Given the description of an element on the screen output the (x, y) to click on. 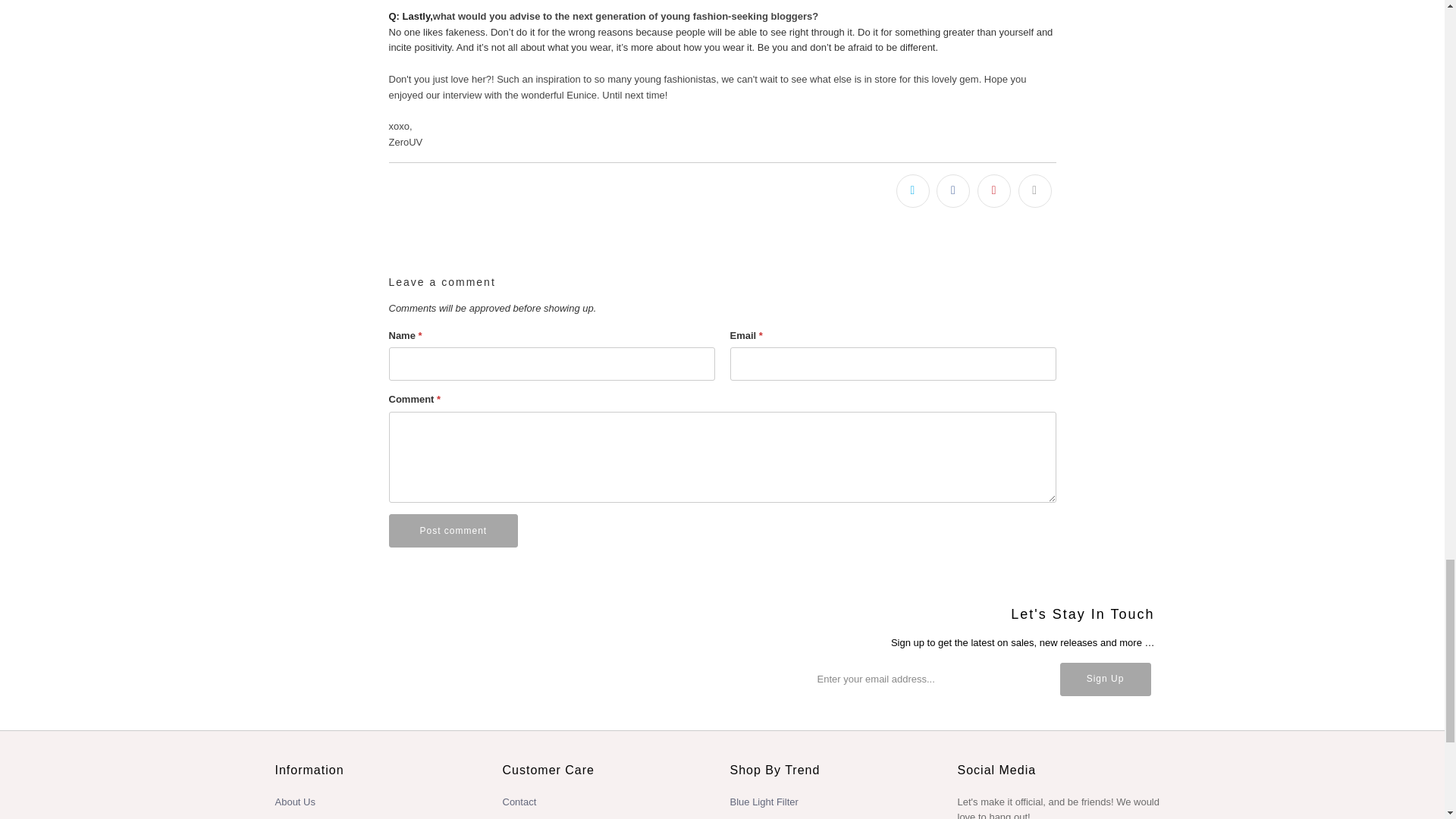
Post comment (453, 530)
Email this to a friend (1034, 191)
Share this on Pinterest (993, 191)
Share this on Twitter (913, 191)
Share this on Facebook (952, 191)
Sign Up (1105, 679)
